Given the description of an element on the screen output the (x, y) to click on. 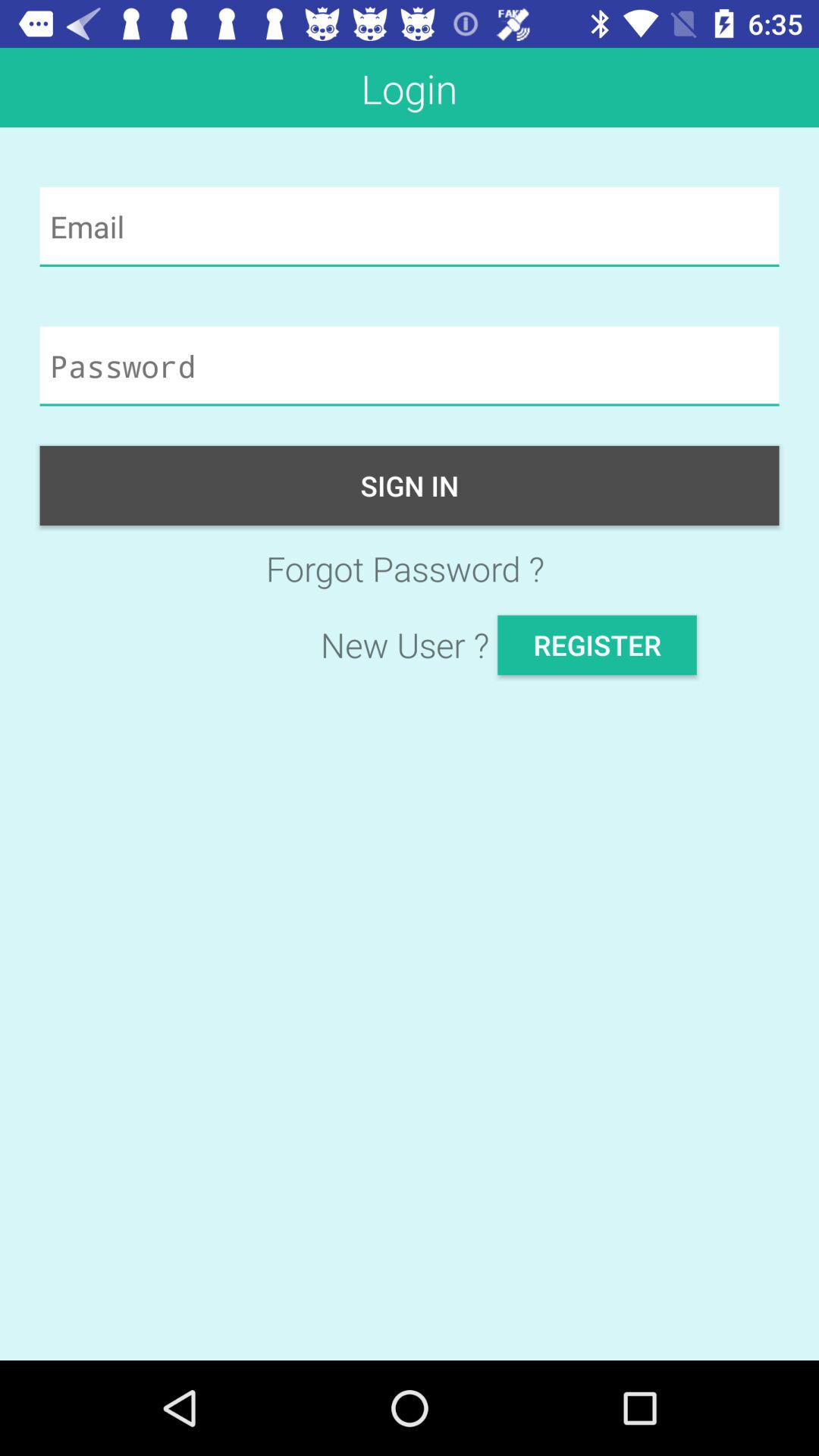
tap register item (596, 645)
